Given the description of an element on the screen output the (x, y) to click on. 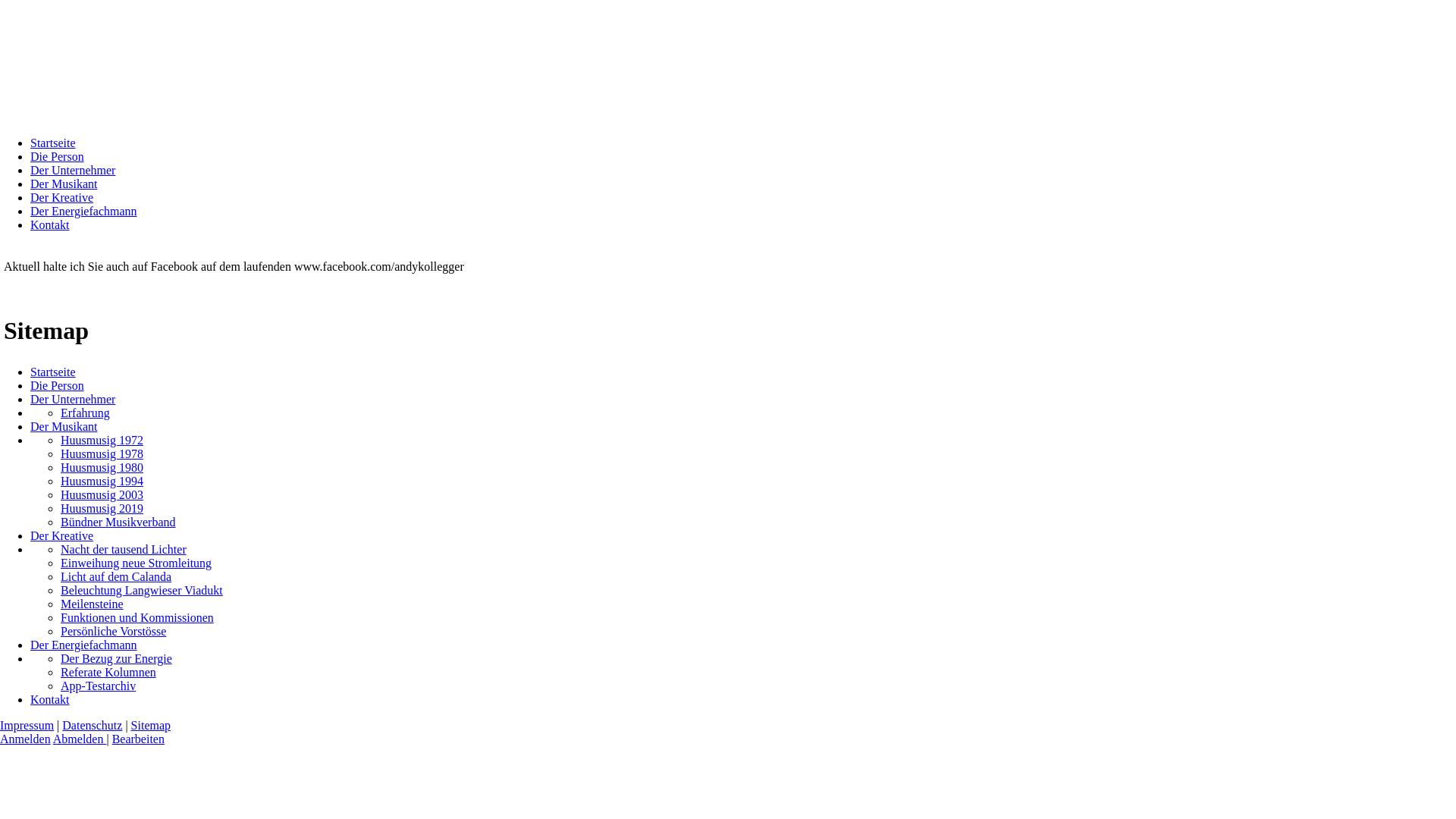
Der Bezug zur Energie Element type: text (116, 658)
Huusmusig 1980 Element type: text (101, 467)
Die Person Element type: text (57, 385)
Bearbeiten Element type: text (138, 738)
Huusmusig 2003 Element type: text (101, 494)
Funktionen und Kommissionen Element type: text (136, 617)
Huusmusig 2019 Element type: text (101, 508)
Nacht der tausend Lichter Element type: text (123, 548)
Datenschutz Element type: text (92, 724)
App-Testarchiv Element type: text (97, 685)
Anmelden Element type: text (25, 738)
Der Kreative Element type: text (61, 197)
Abmelden Element type: text (79, 738)
Der Energiefachmann Element type: text (83, 210)
Der Energiefachmann Element type: text (83, 644)
Der Kreative Element type: text (61, 535)
Der Unternehmer Element type: text (72, 169)
Der Musikant Element type: text (63, 183)
Huusmusig 1978 Element type: text (101, 453)
Huusmusig 1994 Element type: text (101, 480)
Startseite Element type: text (52, 371)
Sitemap Element type: text (150, 724)
Der Musikant Element type: text (63, 426)
Einweihung neue Stromleitung Element type: text (135, 562)
Der Unternehmer Element type: text (72, 398)
Licht auf dem Calanda Element type: text (115, 576)
Kontakt Element type: text (49, 699)
Huusmusig 1972 Element type: text (101, 439)
Erfahrung Element type: text (84, 412)
Kontakt Element type: text (49, 224)
Referate Kolumnen Element type: text (108, 671)
Impressum Element type: text (26, 724)
Beleuchtung Langwieser Viadukt Element type: text (141, 589)
Meilensteine Element type: text (91, 603)
Startseite Element type: text (52, 142)
Die Person Element type: text (57, 156)
